Given the description of an element on the screen output the (x, y) to click on. 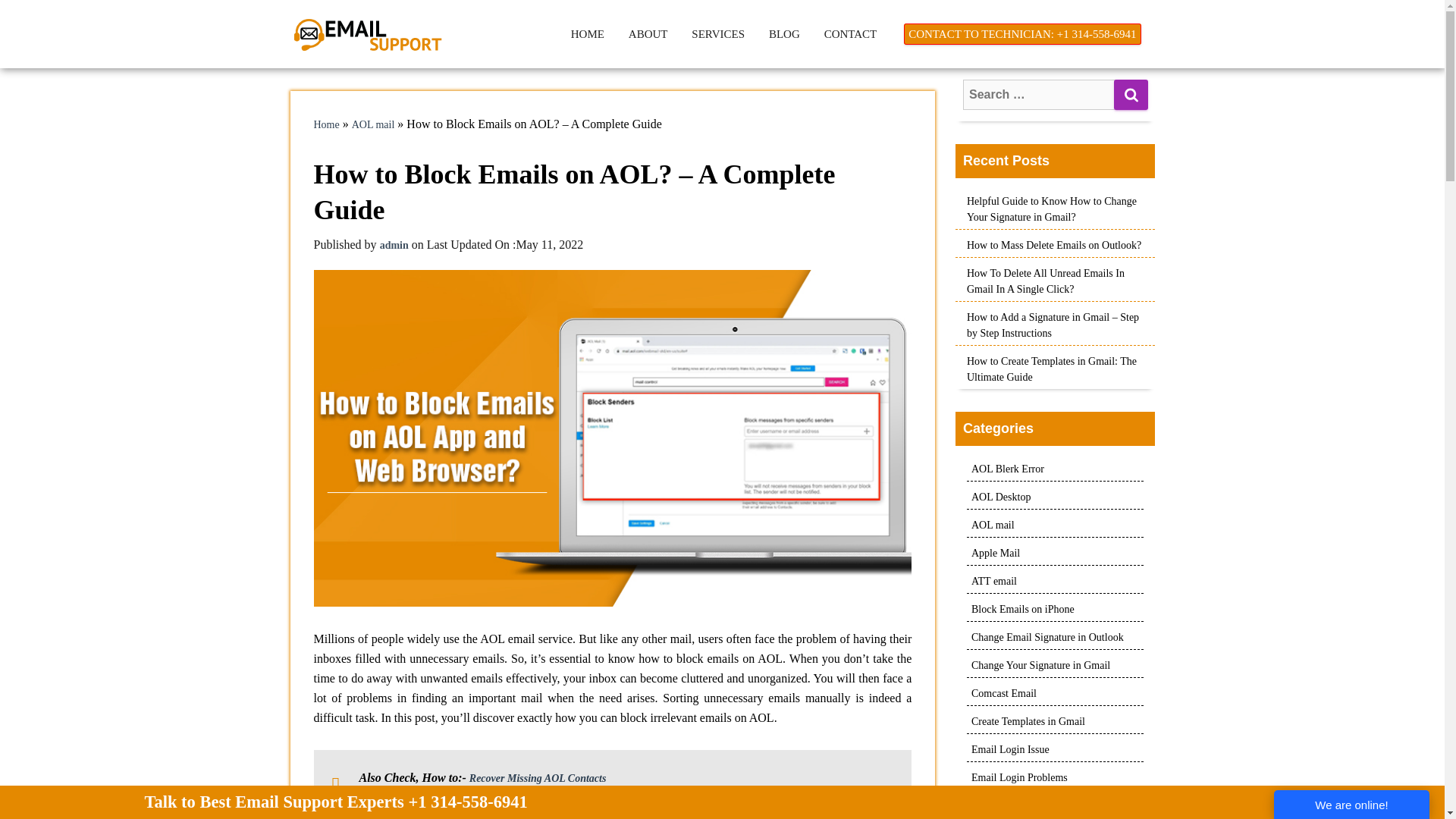
CONTACT (850, 33)
Search (1130, 94)
AOL mail (373, 124)
Home (326, 124)
Recover Missing AOL Contacts (537, 778)
Search (1130, 94)
ABOUT (647, 33)
admin (394, 244)
SERVICES (718, 33)
